Given the description of an element on the screen output the (x, y) to click on. 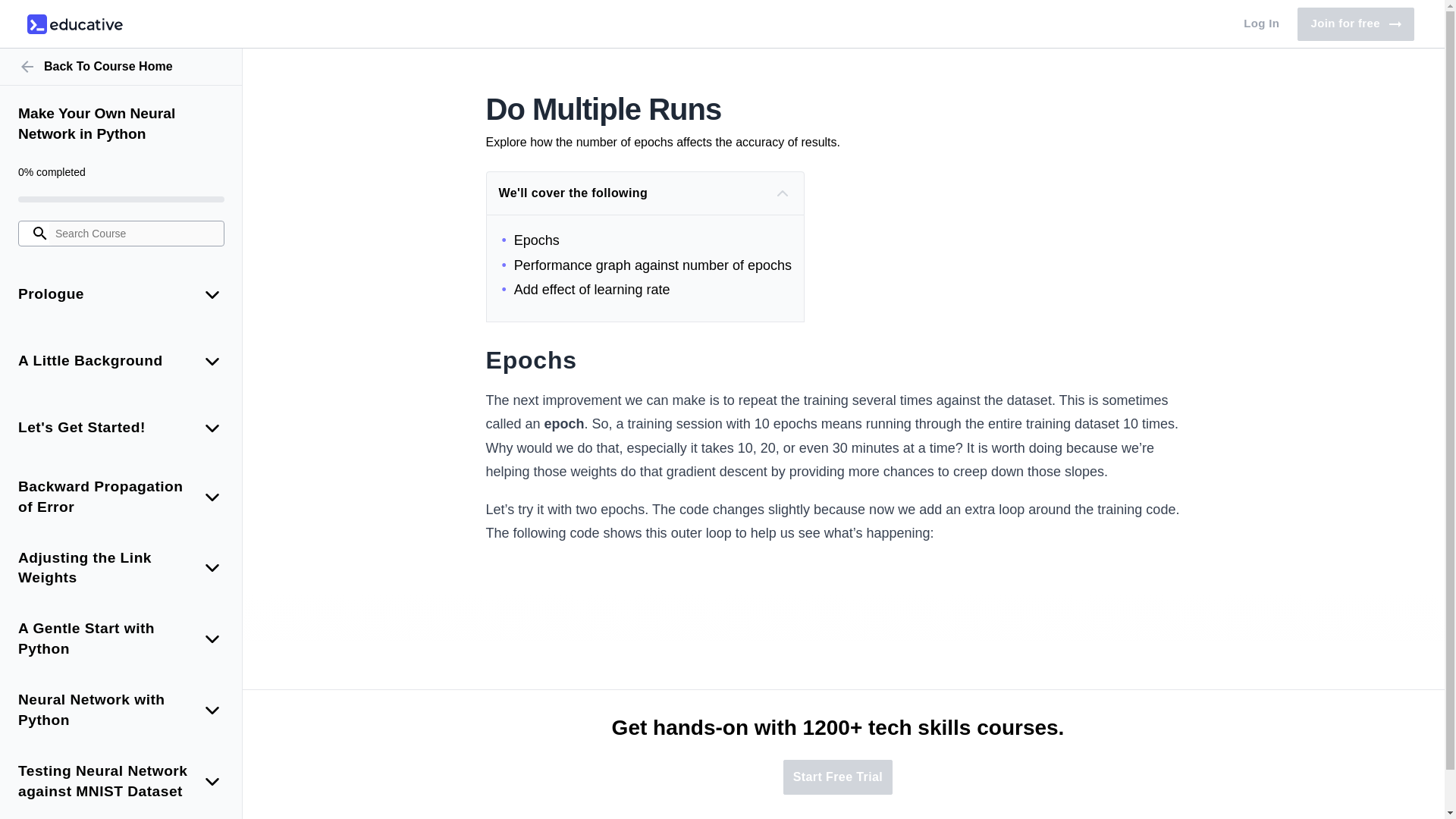
Back To Course Home (1355, 23)
Log In (121, 66)
Make Your Own Neural Network in Python (1261, 23)
educative.io (121, 124)
